Given the description of an element on the screen output the (x, y) to click on. 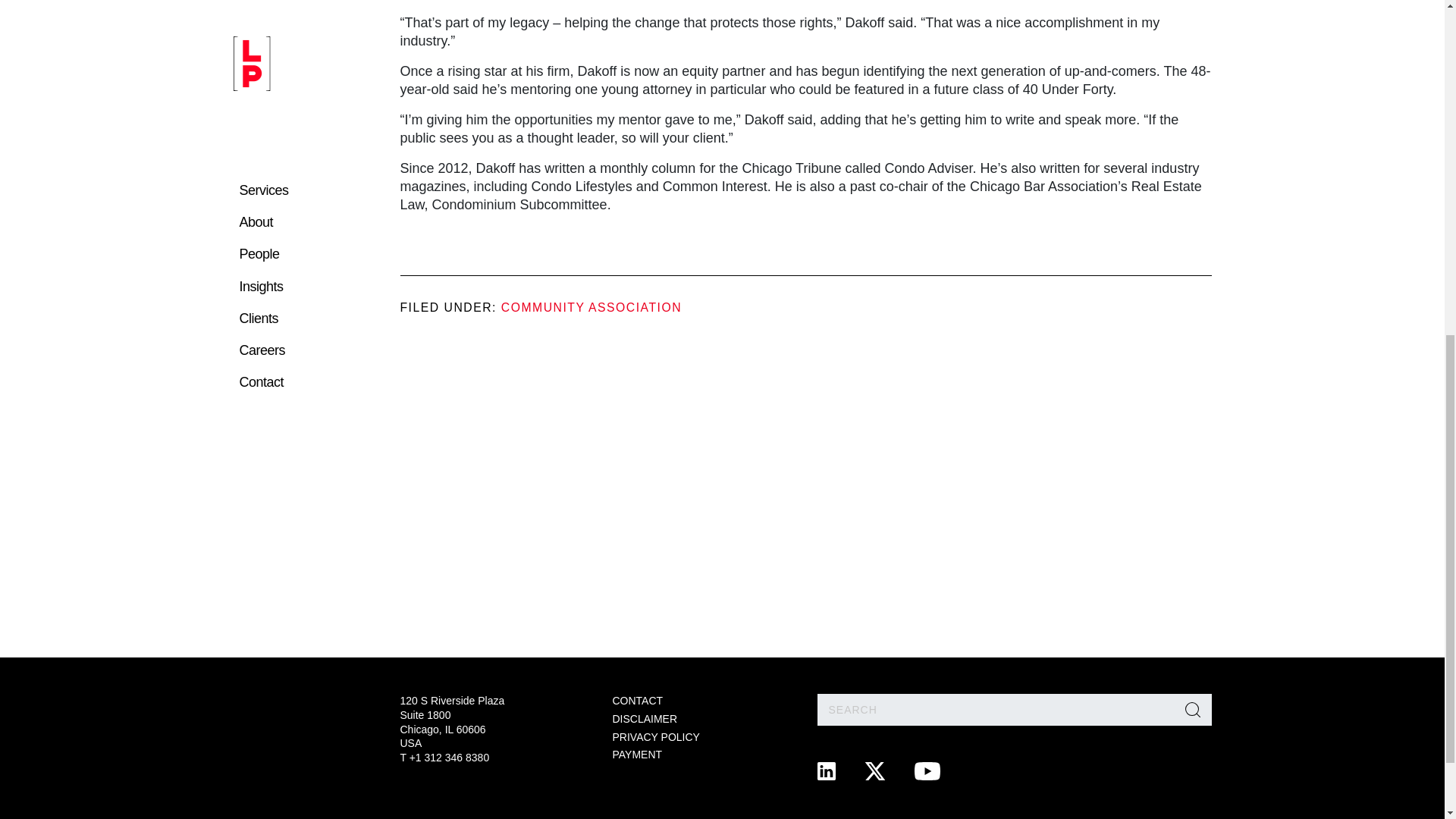
CONTACT (637, 700)
DISCLAIMER (645, 718)
COMMUNITY ASSOCIATION (590, 307)
PRIVACY POLICY (656, 736)
